Given the description of an element on the screen output the (x, y) to click on. 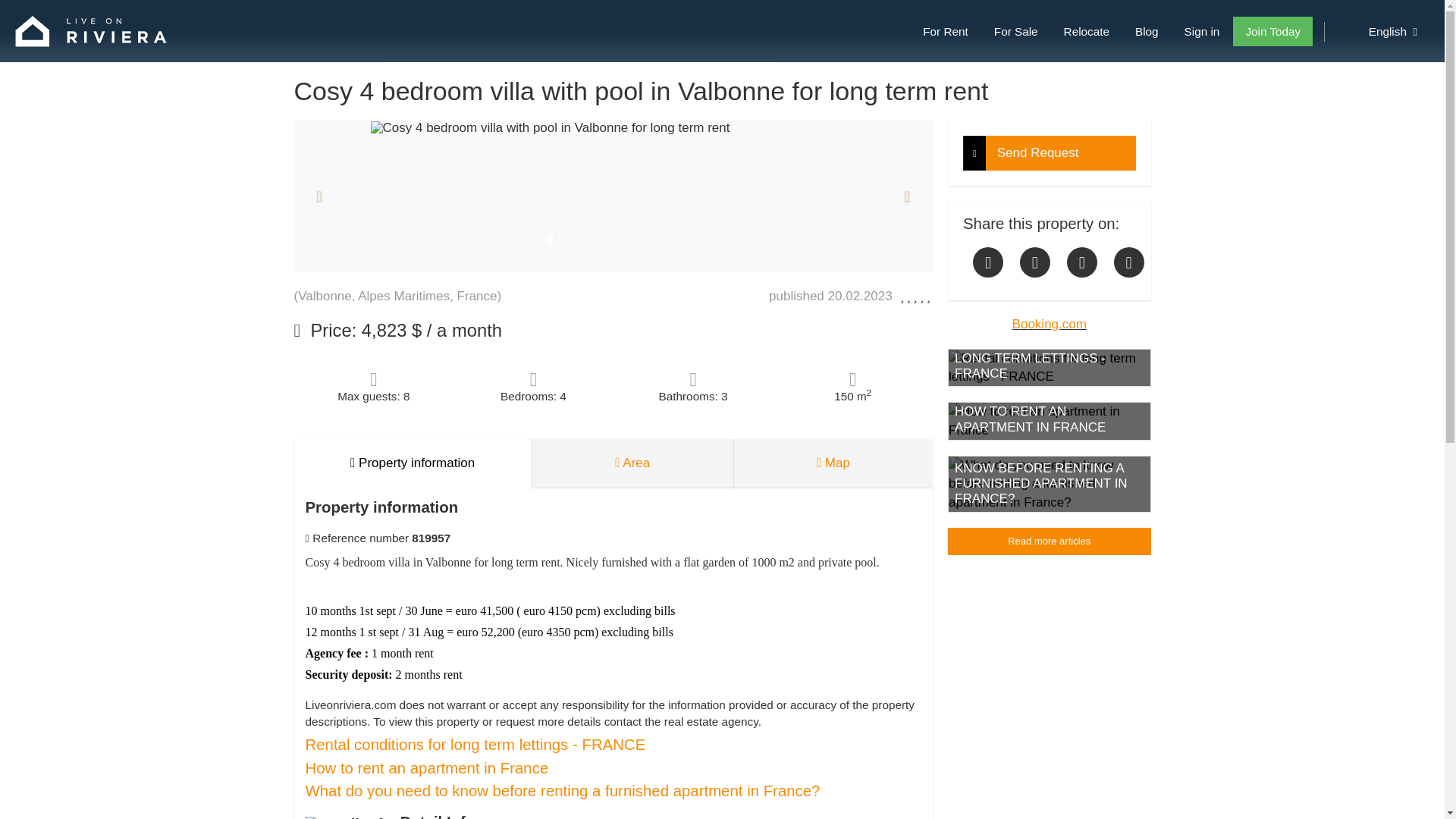
Blog (1146, 30)
Relocate (1086, 30)
Sign in (1201, 30)
English (1383, 30)
Blog (1146, 30)
Holiday Rentals (945, 30)
For Sale (1015, 30)
Join Today (1273, 30)
Join Today (1273, 30)
 English  (1383, 30)
